Given the description of an element on the screen output the (x, y) to click on. 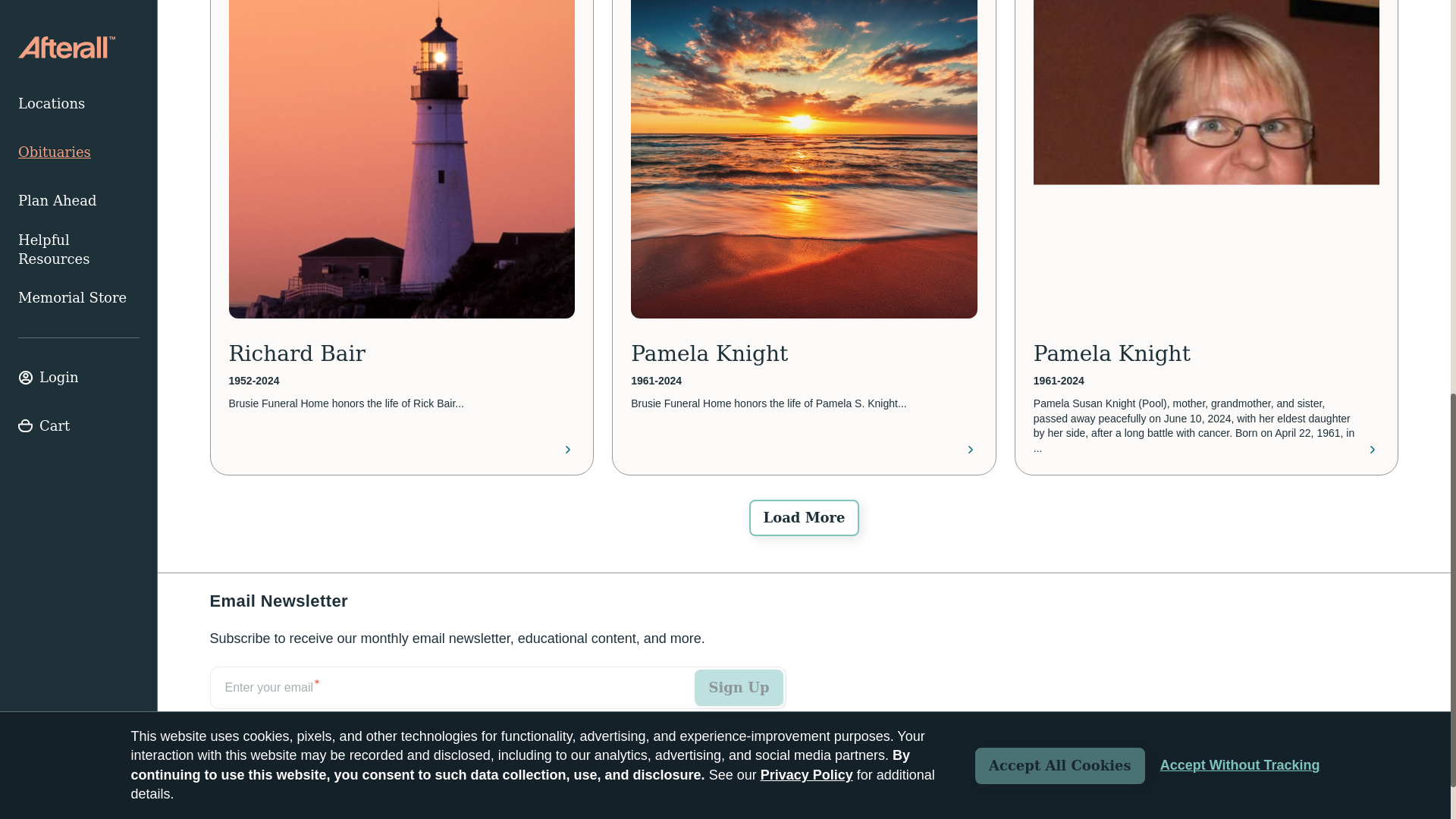
Email Newsletter (497, 704)
Track an Order (257, 788)
FAQs (341, 788)
Sign Up (738, 687)
Load More (804, 517)
